Given the description of an element on the screen output the (x, y) to click on. 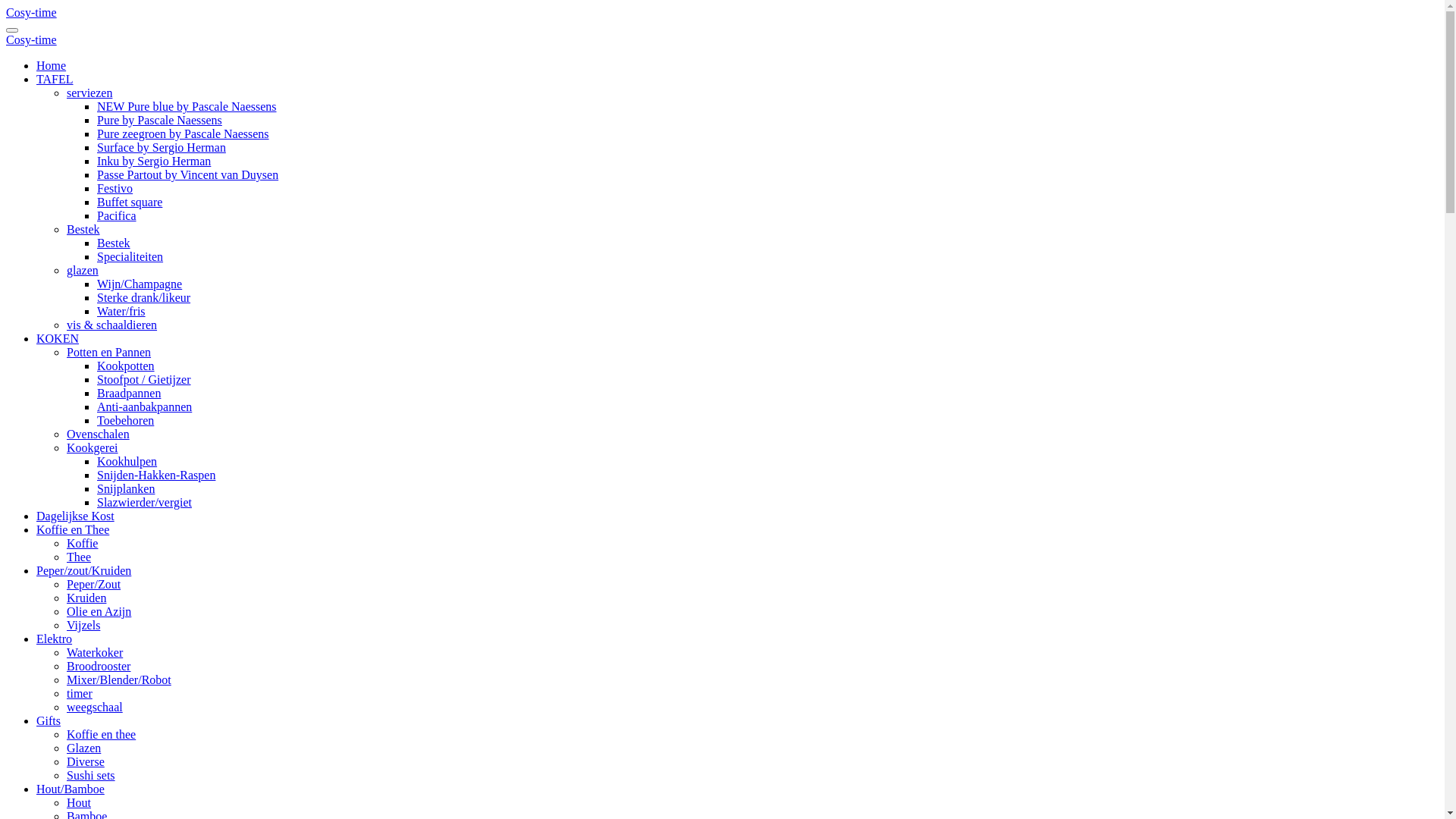
Surface by Sergio Herman Element type: text (161, 147)
Ovenschalen Element type: text (97, 433)
Vijzels Element type: text (83, 624)
Kookgerei Element type: text (92, 447)
Koffie en Thee Element type: text (72, 529)
NEW Pure blue by Pascale Naessens Element type: text (186, 106)
Home Element type: text (50, 65)
Snijden-Hakken-Raspen Element type: text (156, 474)
Peper/zout/Kruiden Element type: text (83, 570)
Potten en Pannen Element type: text (108, 351)
Sushi sets Element type: text (90, 774)
Peper/Zout Element type: text (93, 583)
Thee Element type: text (78, 556)
Pure zeegroen by Pascale Naessens Element type: text (183, 133)
Passe Partout by Vincent van Duysen Element type: text (187, 174)
timer Element type: text (79, 693)
glazen Element type: text (82, 269)
Hout Element type: text (78, 802)
Gifts Element type: text (48, 720)
Anti-aanbakpannen Element type: text (144, 406)
Koffie Element type: text (81, 542)
Dagelijkse Kost Element type: text (75, 515)
Diverse Element type: text (85, 761)
Braadpannen Element type: text (128, 392)
Waterkoker Element type: text (94, 652)
Kookpotten Element type: text (125, 365)
Hout/Bamboe Element type: text (70, 788)
Bestek Element type: text (113, 242)
Pure by Pascale Naessens Element type: text (159, 119)
Mixer/Blender/Robot Element type: text (118, 679)
Sterke drank/likeur Element type: text (143, 297)
Festivo Element type: text (114, 188)
Glazen Element type: text (83, 747)
Koffie en thee Element type: text (100, 734)
Inku by Sergio Herman Element type: text (153, 160)
Olie en Azijn Element type: text (98, 611)
Broodrooster Element type: text (98, 665)
Stoofpot / Gietijzer Element type: text (144, 379)
Cosy-time Element type: text (31, 12)
Slazwierder/vergiet Element type: text (144, 501)
Pacifica Element type: text (116, 215)
Water/fris Element type: text (121, 310)
serviezen Element type: text (89, 92)
Snijplanken Element type: text (125, 488)
Kookhulpen Element type: text (126, 461)
Kruiden Element type: text (86, 597)
Specialiteiten Element type: text (130, 256)
Wijn/Champagne Element type: text (139, 283)
KOKEN Element type: text (57, 338)
Bestek Element type: text (83, 228)
Elektro Element type: text (54, 638)
Toebehoren Element type: text (125, 420)
Cosy-time Element type: text (31, 39)
vis & schaaldieren Element type: text (111, 324)
Buffet square Element type: text (129, 201)
weegschaal Element type: text (94, 706)
TAFEL Element type: text (54, 78)
